Given the description of an element on the screen output the (x, y) to click on. 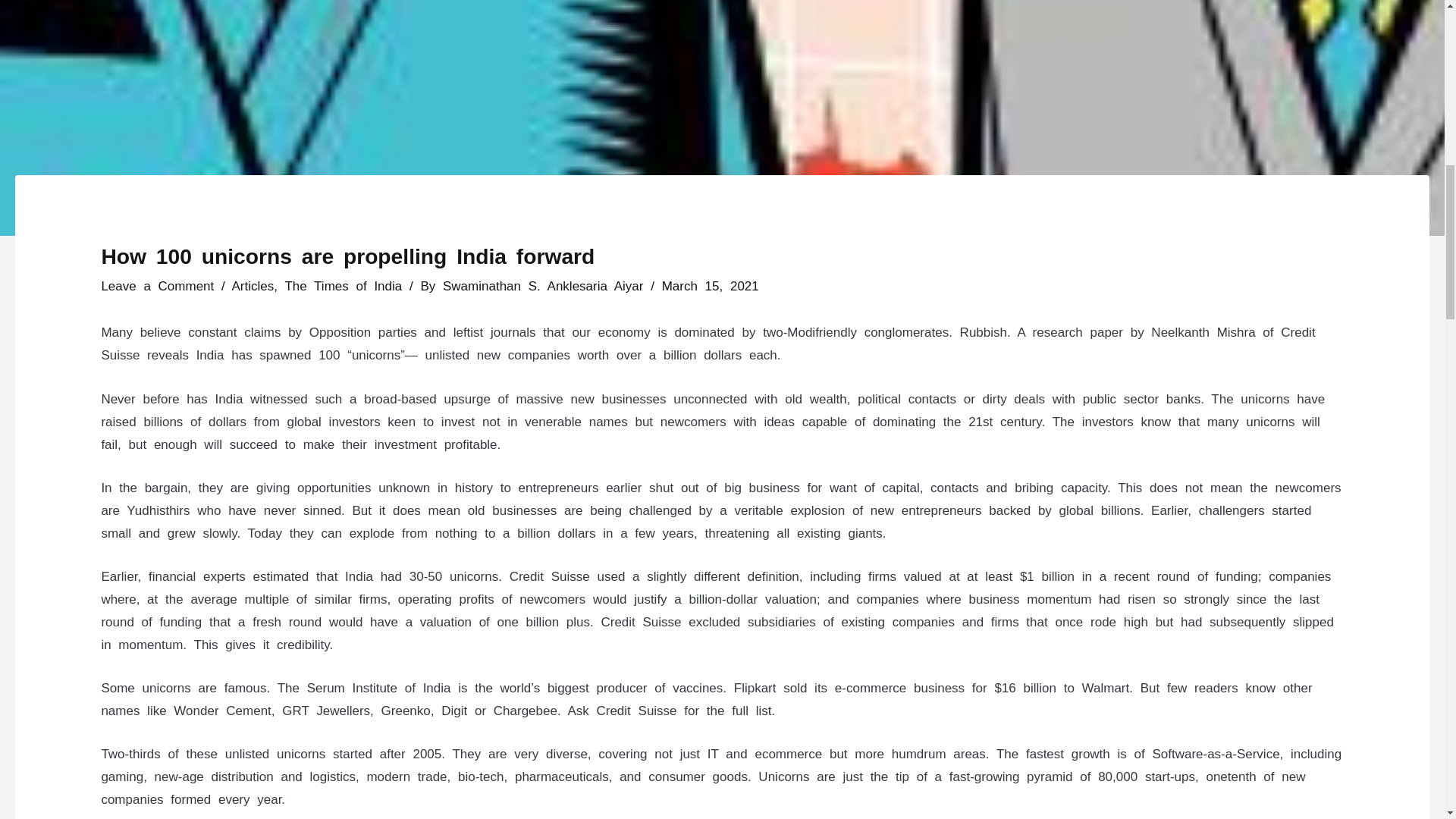
Swaminathan S. Anklesaria Aiyar (546, 286)
Articles (253, 286)
Leave a Comment (157, 286)
The Times of India (342, 286)
View all posts by Swaminathan S. Anklesaria Aiyar (546, 286)
